Given the description of an element on the screen output the (x, y) to click on. 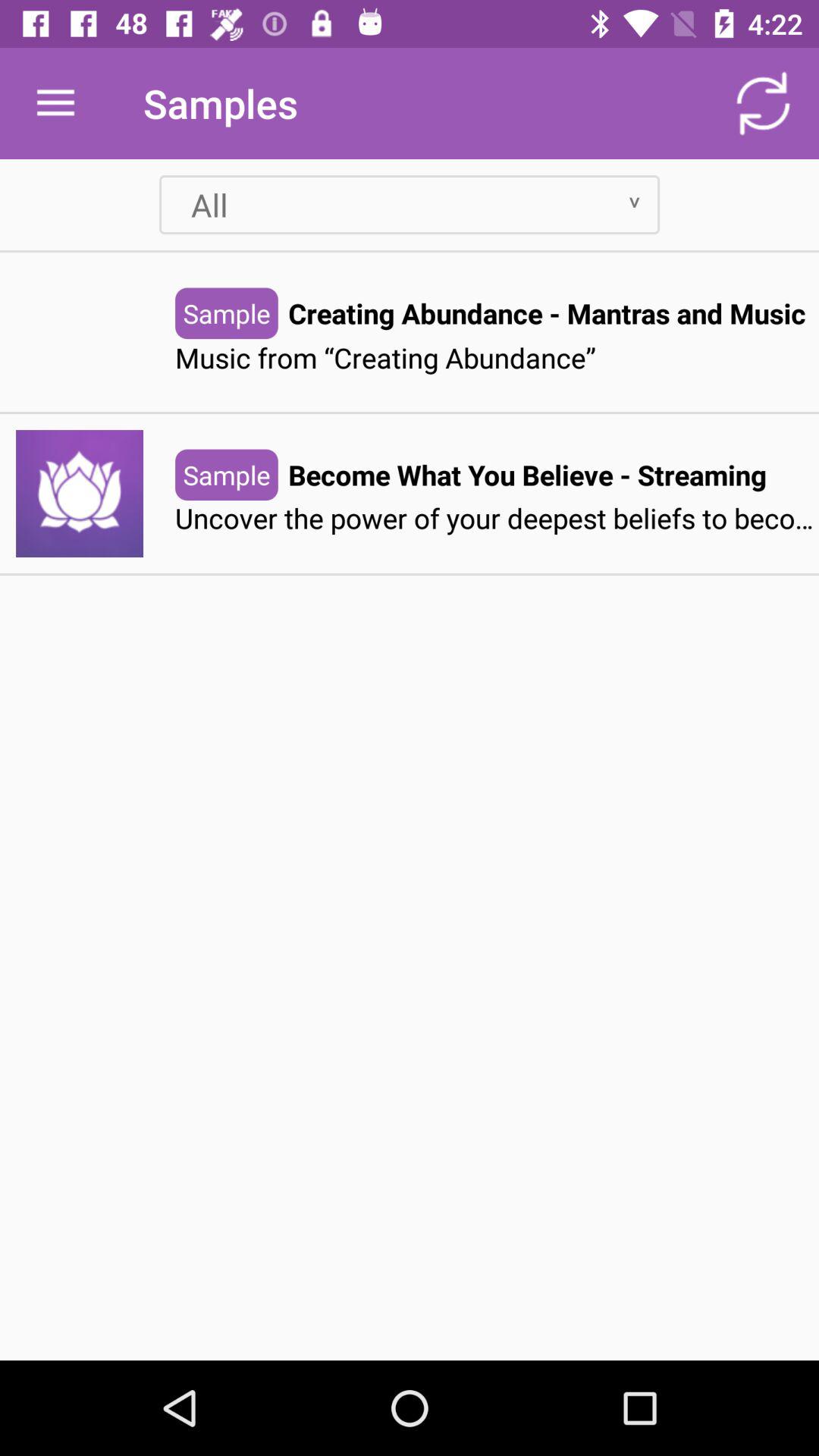
open item next to the sample icon (527, 474)
